Given the description of an element on the screen output the (x, y) to click on. 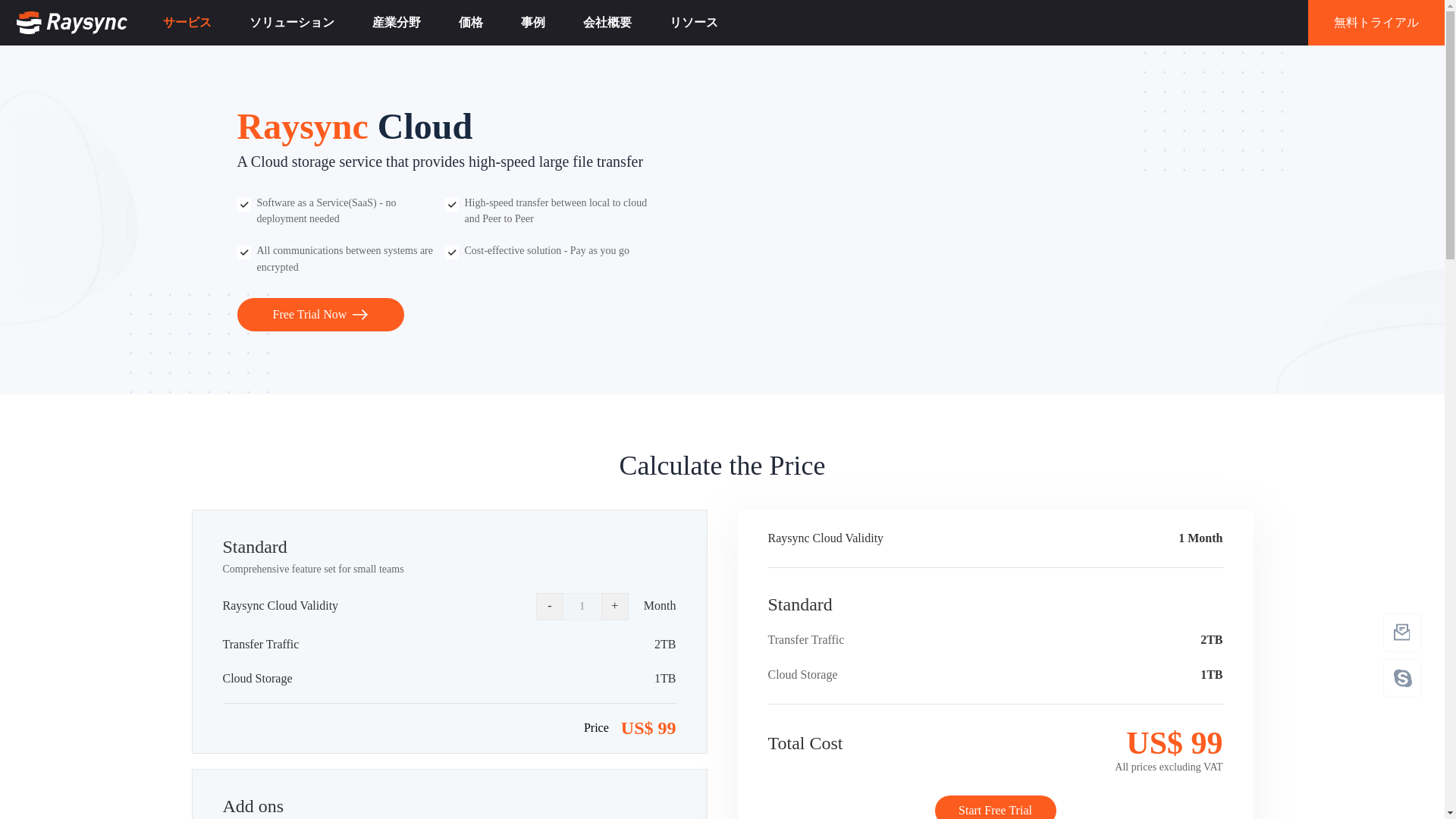
Free Trial Now (319, 314)
Raysync (71, 22)
1 (582, 605)
Start Free Trial (994, 807)
YouTube video player (979, 219)
